Given the description of an element on the screen output the (x, y) to click on. 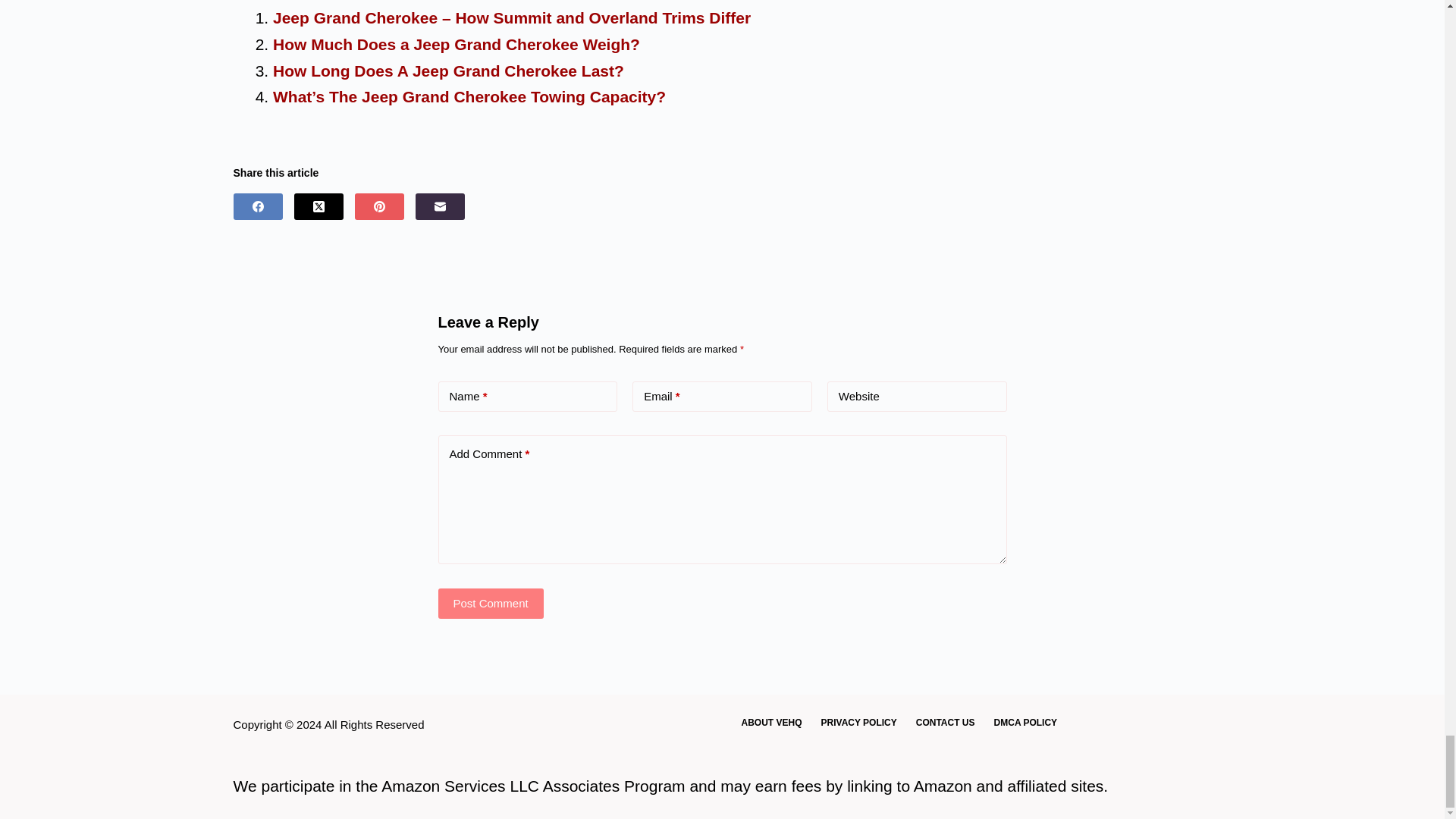
How Much Does a Jeep Grand Cherokee Weigh? (456, 44)
How Long Does A Jeep Grand Cherokee Last? (448, 70)
